Given the description of an element on the screen output the (x, y) to click on. 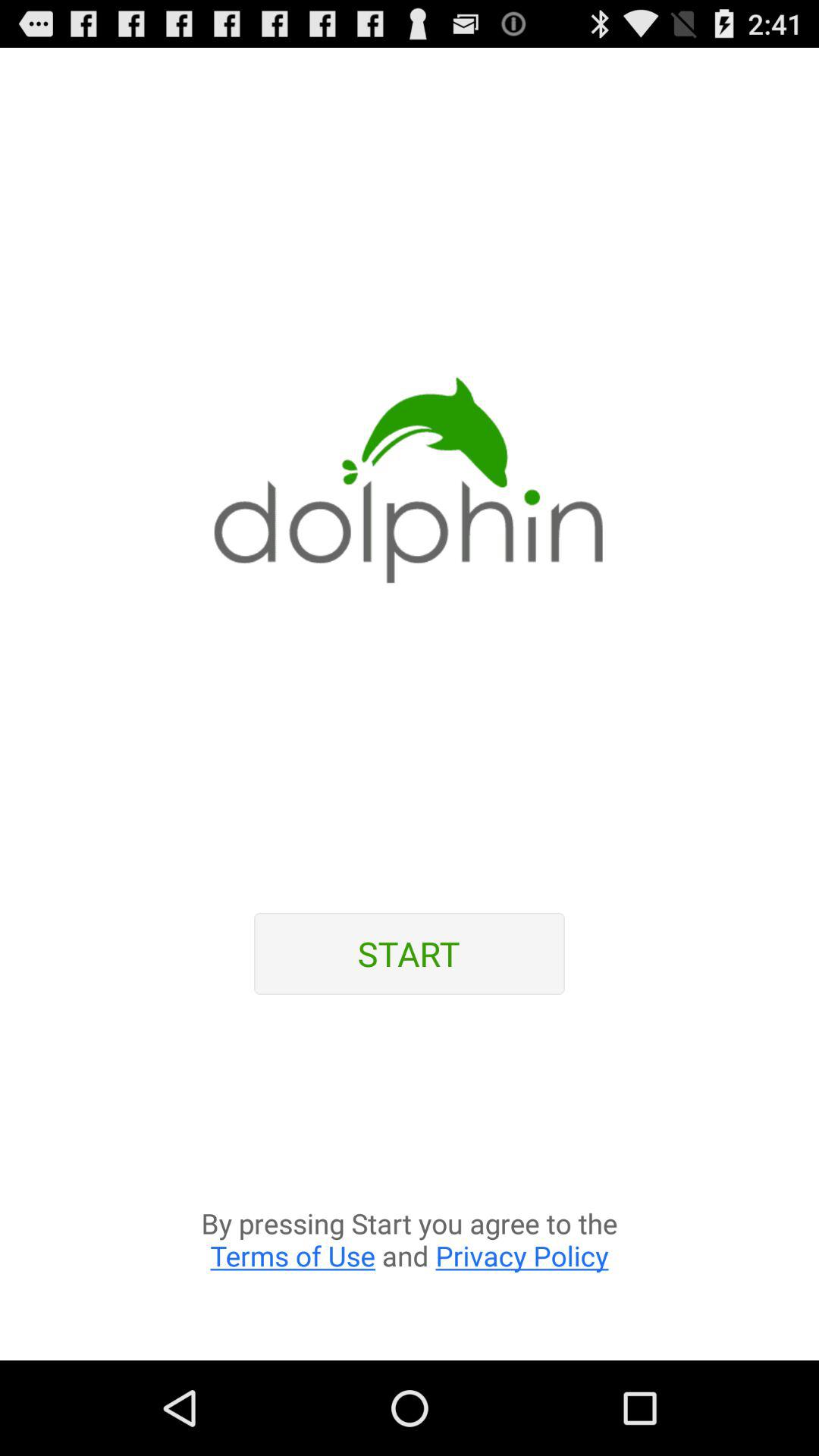
click by pressing start item (409, 1186)
